Given the description of an element on the screen output the (x, y) to click on. 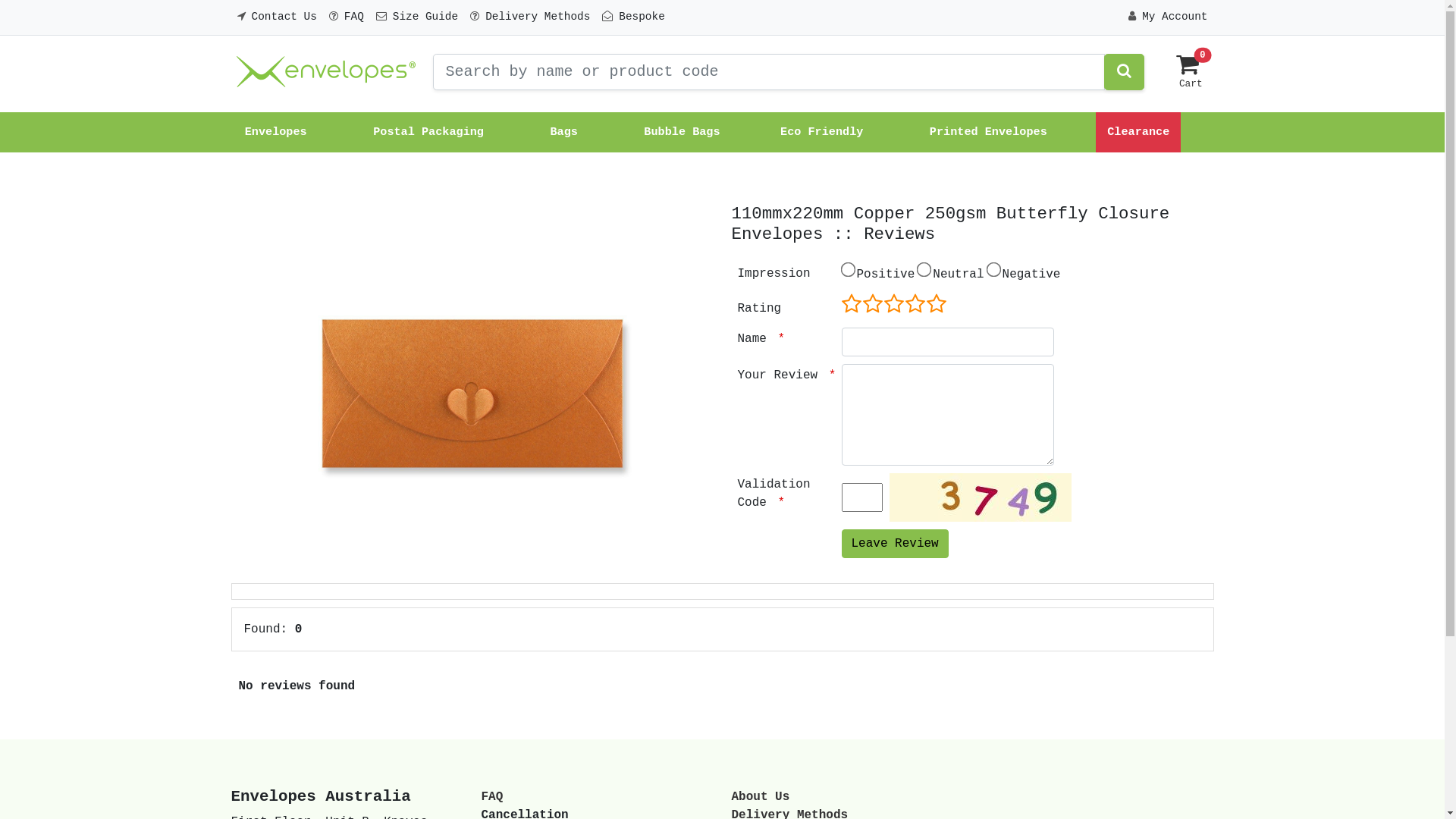
Size Guide Element type: text (417, 17)
Postal Packaging Element type: text (431, 132)
Good Element type: hover (926, 303)
Bubble Bags Element type: text (681, 132)
Average Element type: hover (915, 303)
0 Element type: text (1187, 70)
Excellent Element type: hover (936, 303)
Home Element type: hover (325, 72)
Eco Friendly Element type: text (824, 132)
Bags Element type: text (566, 132)
Leave Review Element type: text (894, 543)
Printed Envelopes Element type: text (988, 132)
Clearance Element type: text (1137, 132)
Delivery Methods Element type: text (530, 17)
Contact Us Element type: text (276, 17)
Bad Element type: hover (894, 303)
Poor Element type: hover (904, 303)
FAQ Element type: text (491, 796)
About Us Element type: text (760, 796)
My Account Element type: text (1167, 17)
FAQ Element type: text (346, 17)
Bespoke Element type: text (633, 17)
Envelopes Element type: text (278, 132)
